Given the description of an element on the screen output the (x, y) to click on. 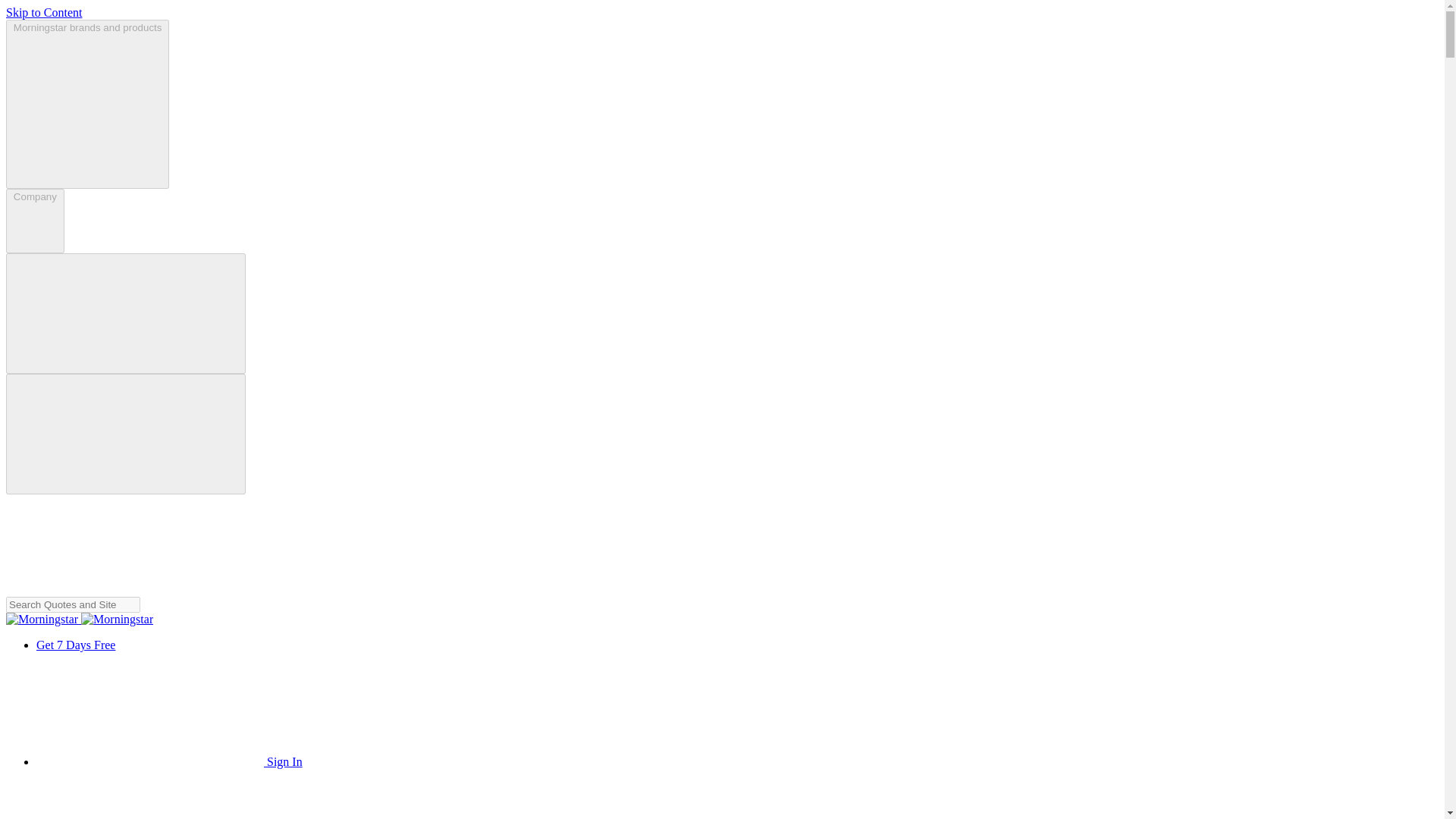
Company (34, 221)
Sign In (169, 761)
Skip to Content (43, 11)
Sign In (118, 800)
Get 7 Days Free (75, 644)
Morningstar brands and products (86, 104)
